Given the description of an element on the screen output the (x, y) to click on. 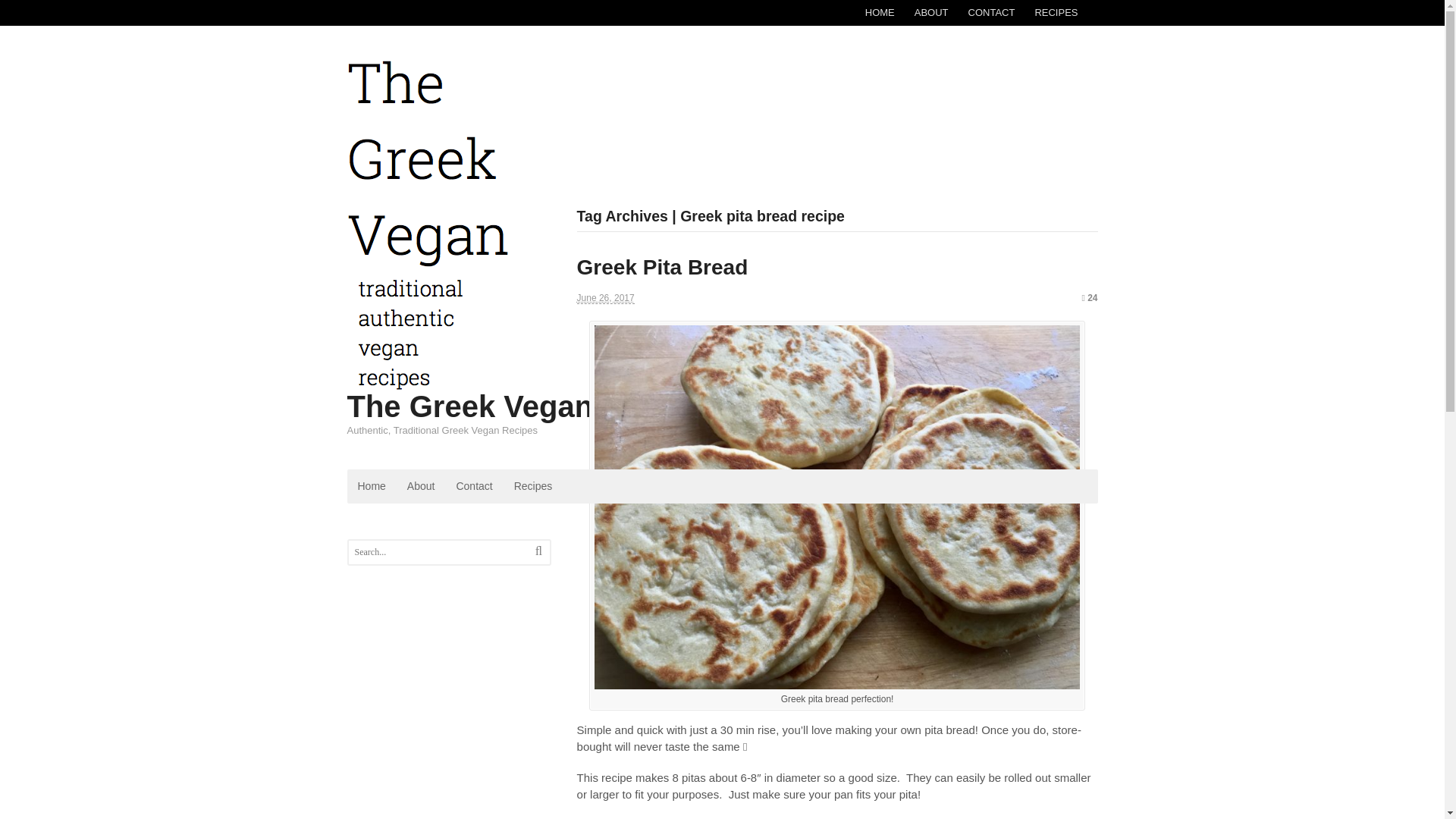
Contact (473, 486)
2017-06-26T13:24:57-0400 (605, 297)
Greek Pita Bread (662, 267)
Authentic, Traditional Greek Vegan Recipes (427, 383)
CONTACT (991, 12)
Search... (440, 552)
The Greek Vegan (470, 406)
Greek Pita Bread (662, 267)
Home (371, 486)
ABOUT (931, 12)
